Given the description of an element on the screen output the (x, y) to click on. 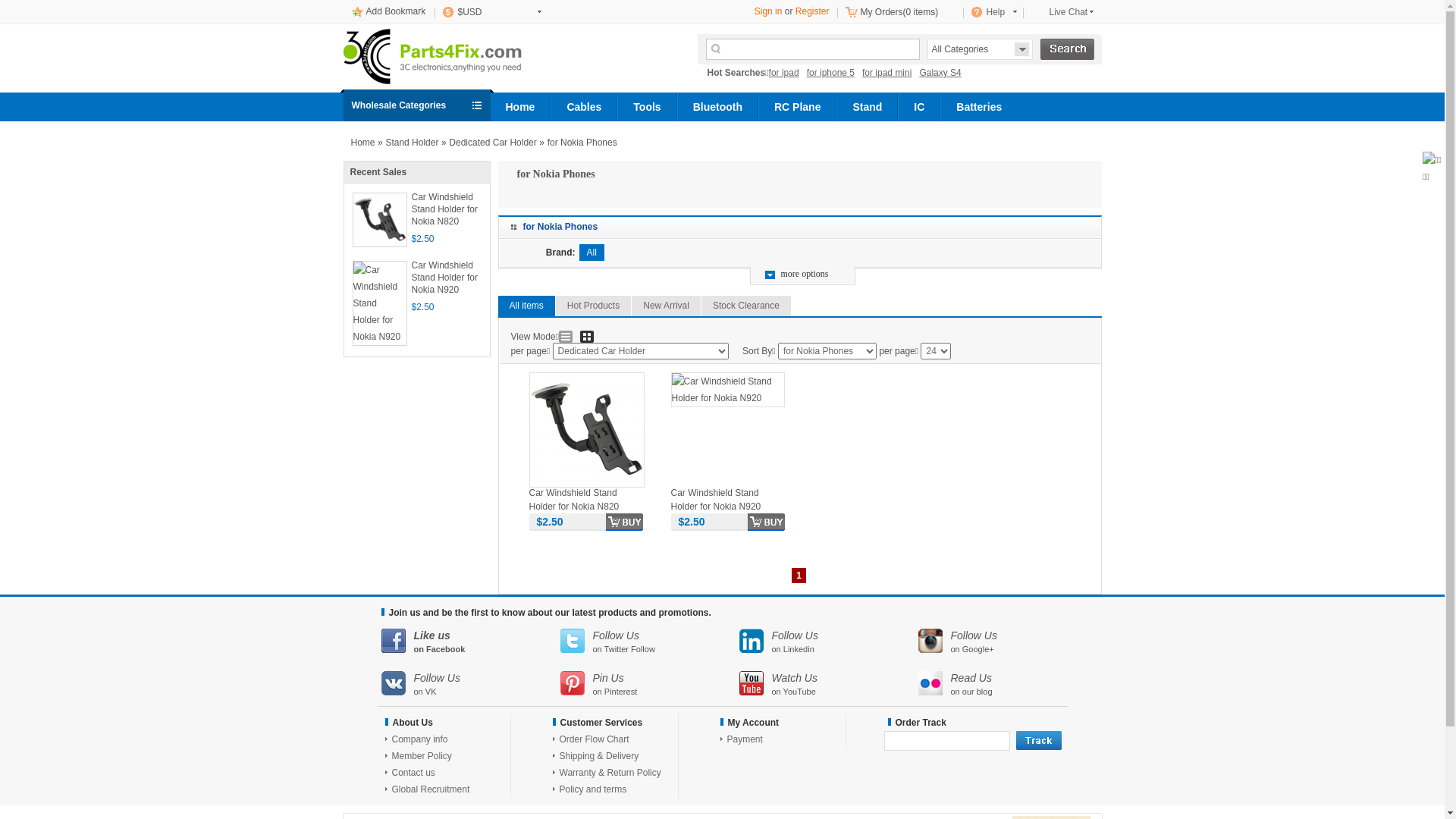
Car Windshield Stand Holder for Nokia N920 Element type: hover (727, 429)
Like us
on Facebook Element type: text (469, 640)
All Element type: text (591, 252)
for iphone 5 Element type: text (834, 72)
Dedicated Car Holder Element type: text (492, 142)
Wholesale Categories Element type: text (415, 105)
Car Windshield Stand Holder for Nokia N920 Element type: text (727, 542)
Stand Element type: text (867, 106)
Home Element type: text (519, 106)
IC Element type: text (918, 106)
Car Windshield Stand Holder for Nokia N820 Element type: hover (586, 429)
Company info Element type: text (419, 739)
track Element type: text (1038, 740)
Stand Holder Element type: text (411, 142)
Order Flow Chart Element type: text (594, 739)
Galaxy S4 Element type: text (943, 72)
Follow Us
on Google+ Element type: text (1006, 640)
Watch Us
on YouTube Element type: text (827, 683)
Member Policy Element type: text (421, 755)
Follow Us
on Linkedin Element type: text (827, 640)
Contact us Element type: text (412, 772)
Add Bookmark Element type: text (395, 11)
Batteries Element type: text (978, 106)
for ipad Element type: text (787, 72)
Follow Element type: text (642, 648)
Register Element type: text (812, 11)
Bluetooth Element type: text (717, 106)
Car Windshield Stand Holder for Nokia N920 Element type: text (445, 278)
$USD Element type: text (491, 12)
Cell Phone Accessories Element type: text (481, 57)
My Orders(0 items) Element type: text (899, 11)
Tools Element type: text (646, 106)
Car Windshield Stand Holder for Nokia N820 Element type: text (586, 542)
Home Element type: text (362, 142)
for ipad mini Element type: text (890, 72)
Live Chat Element type: text (1061, 12)
Follow Us
on VK Element type: text (469, 683)
Pin Us
on Pinterest Element type: text (648, 683)
Shipping & Delivery Element type: text (599, 755)
$2.50 Element type: text (751, 521)
Payment Element type: text (744, 739)
for Nokia Phones Element type: text (582, 142)
Policy and terms Element type: text (593, 789)
Warranty & Return Policy Element type: text (610, 772)
Cables Element type: text (583, 106)
$2.50 Element type: text (610, 521)
Stock Clearance Element type: text (745, 305)
All items Element type: text (525, 305)
New Arrival Element type: text (665, 305)
Global Recruitment Element type: text (430, 789)
Car Windshield Stand Holder for Nokia N820 Element type: text (445, 210)
Hot Products Element type: text (592, 305)
Help Element type: text (992, 12)
Follow Us
on Twitter Element type: text (648, 640)
Sign in Element type: text (768, 11)
RC Plane Element type: text (797, 106)
Read Us
on our blog Element type: text (1006, 683)
